Given the description of an element on the screen output the (x, y) to click on. 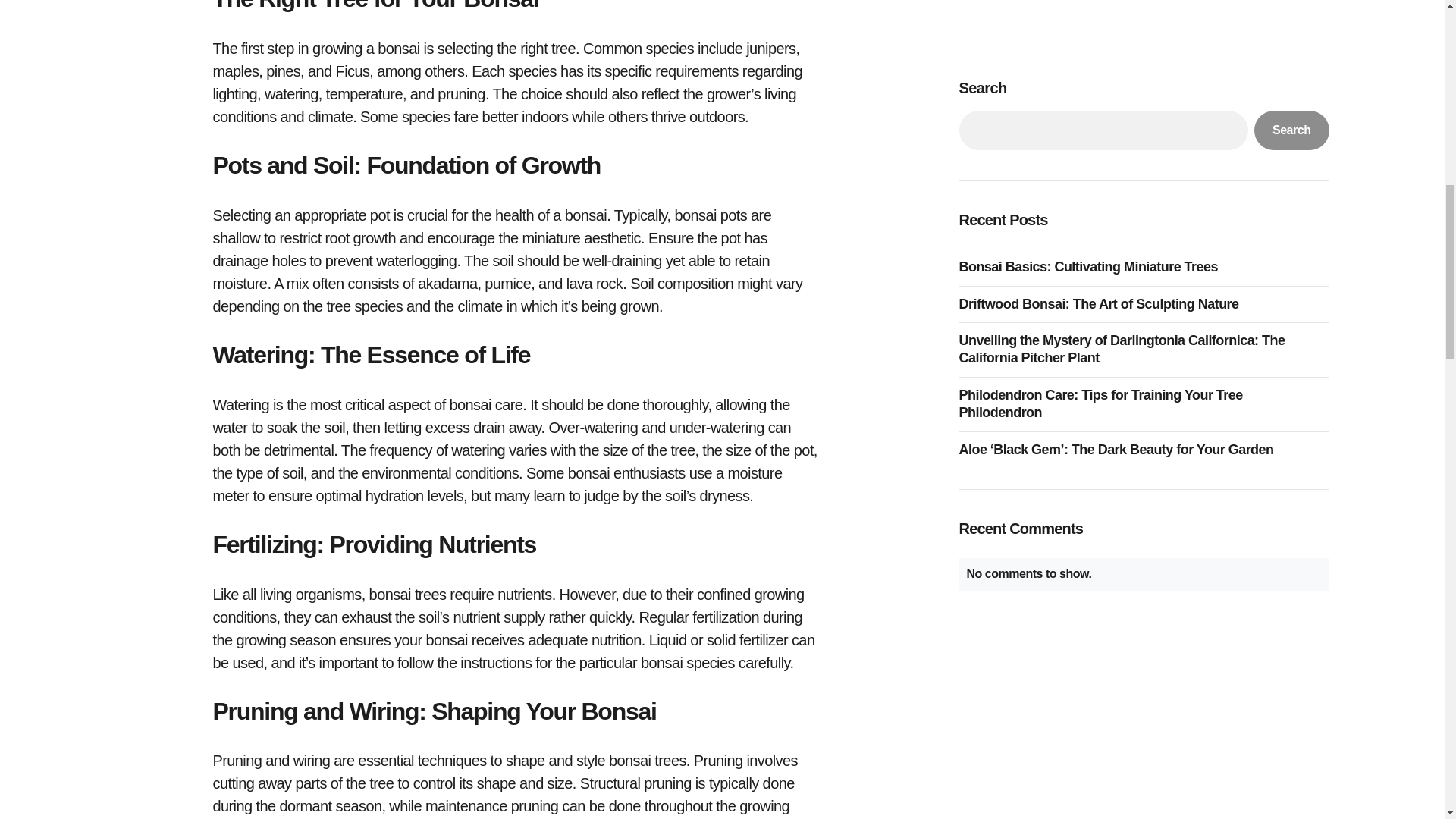
Driftwood Bonsai: The Art of Sculpting Nature (1102, 1)
Philodendron Care: Tips for Training Your Tree Philodendron (1142, 94)
